Given the description of an element on the screen output the (x, y) to click on. 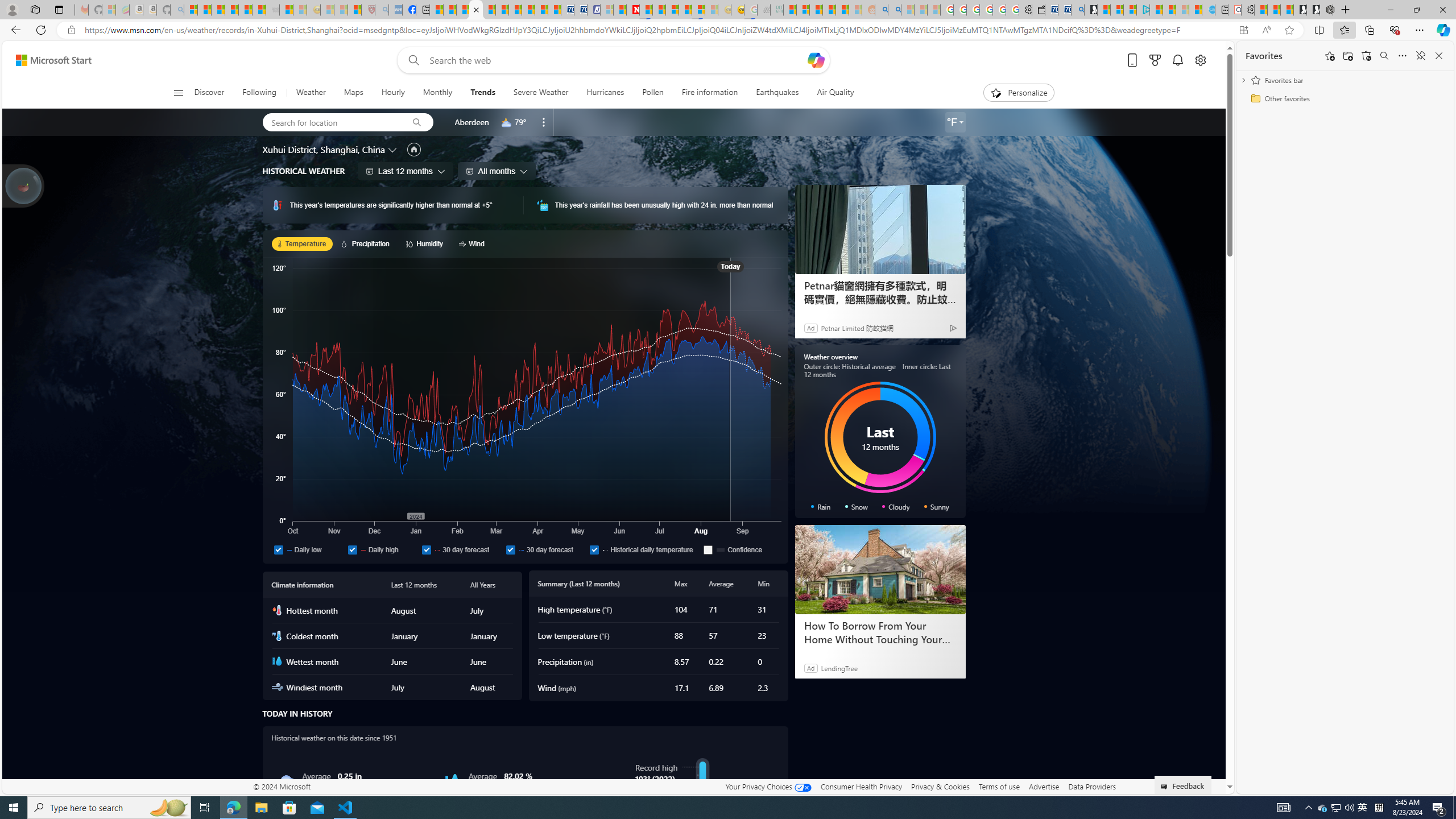
Search favorites (1383, 55)
Aberdeen (471, 121)
Earthquakes (777, 92)
